Given the description of an element on the screen output the (x, y) to click on. 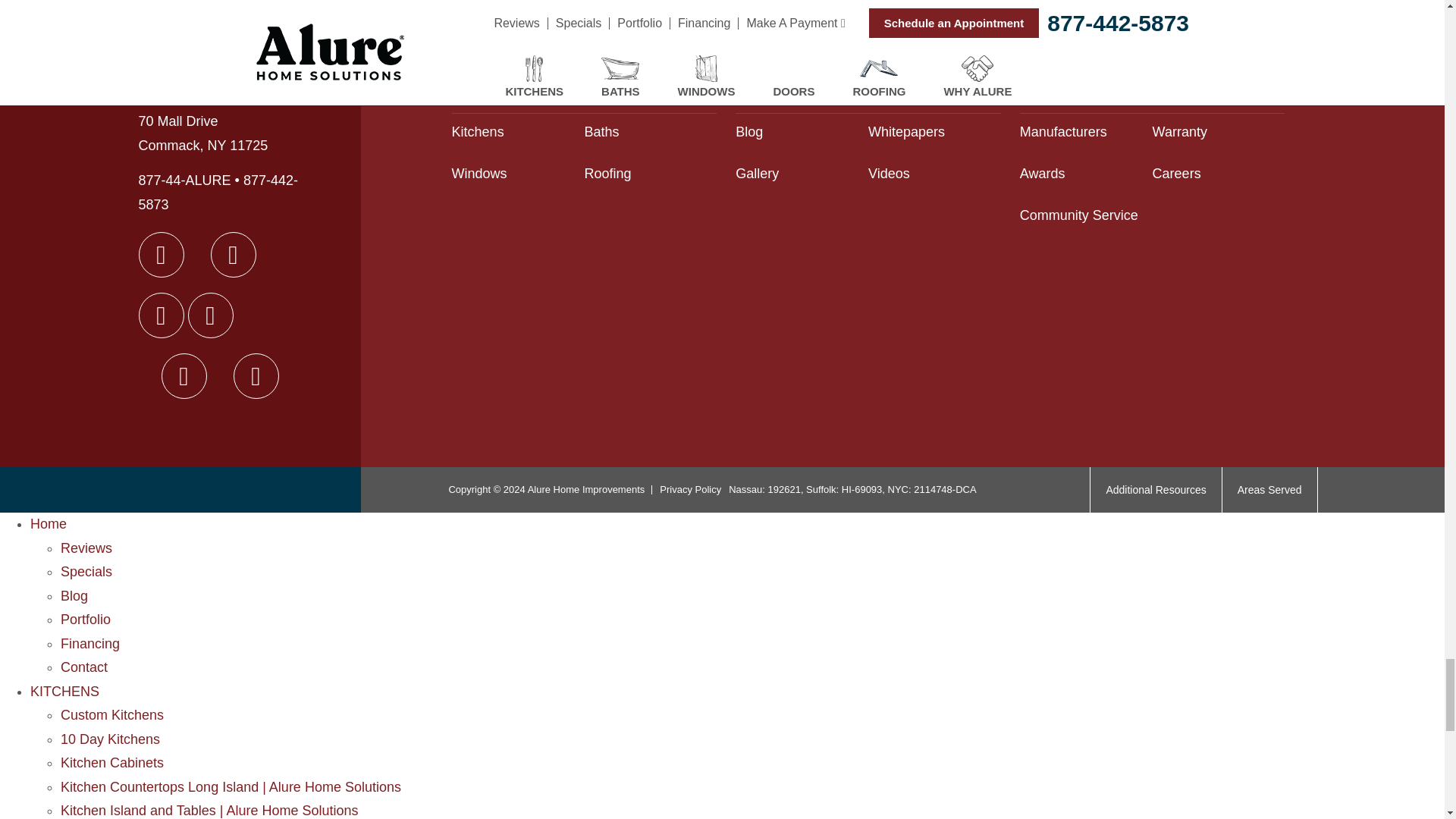
Blog (255, 375)
Alure Home Improvements (232, 83)
Twitter (209, 315)
Pinterest (183, 375)
Youtube (160, 315)
Instagram (233, 254)
Facebook (160, 254)
